Given the description of an element on the screen output the (x, y) to click on. 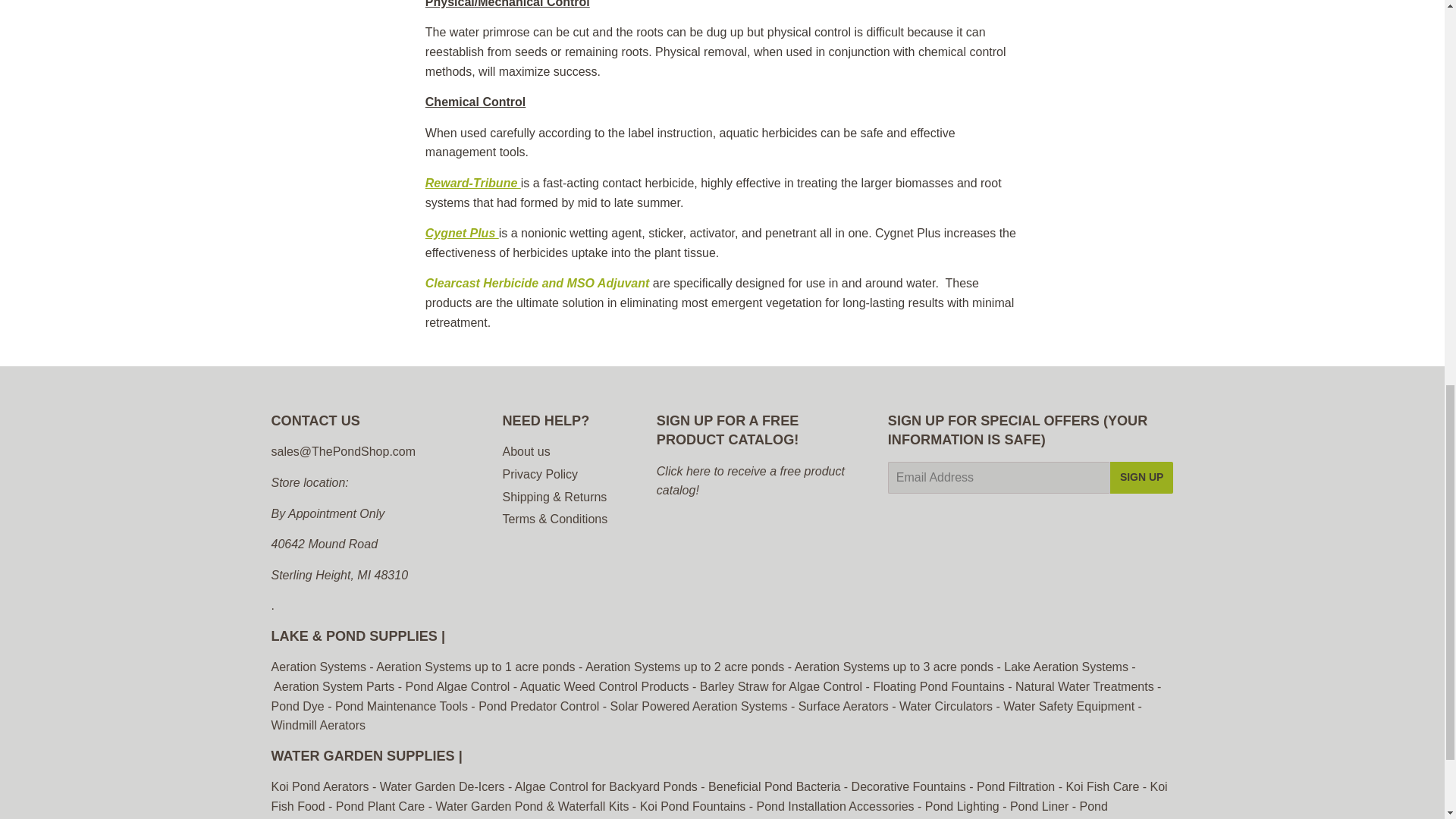
Floating Pond Fountains (940, 686)
Lake Aeration Systems (1066, 666)
Aerators up to 3 acres (893, 666)
Aeration System Parts (333, 686)
Aeration Systems (319, 666)
Algae Control (458, 686)
Predator Control (538, 706)
Pond Maintenance Tools (400, 706)
Aerators up to 1 acres (476, 666)
Aerators up to 2 acres (684, 666)
Solar Powered Aerators (698, 706)
Aquatic Weed Control Products (606, 686)
Pond Dye (297, 706)
Catalog Request (750, 481)
Barley Straw (780, 686)
